Given the description of an element on the screen output the (x, y) to click on. 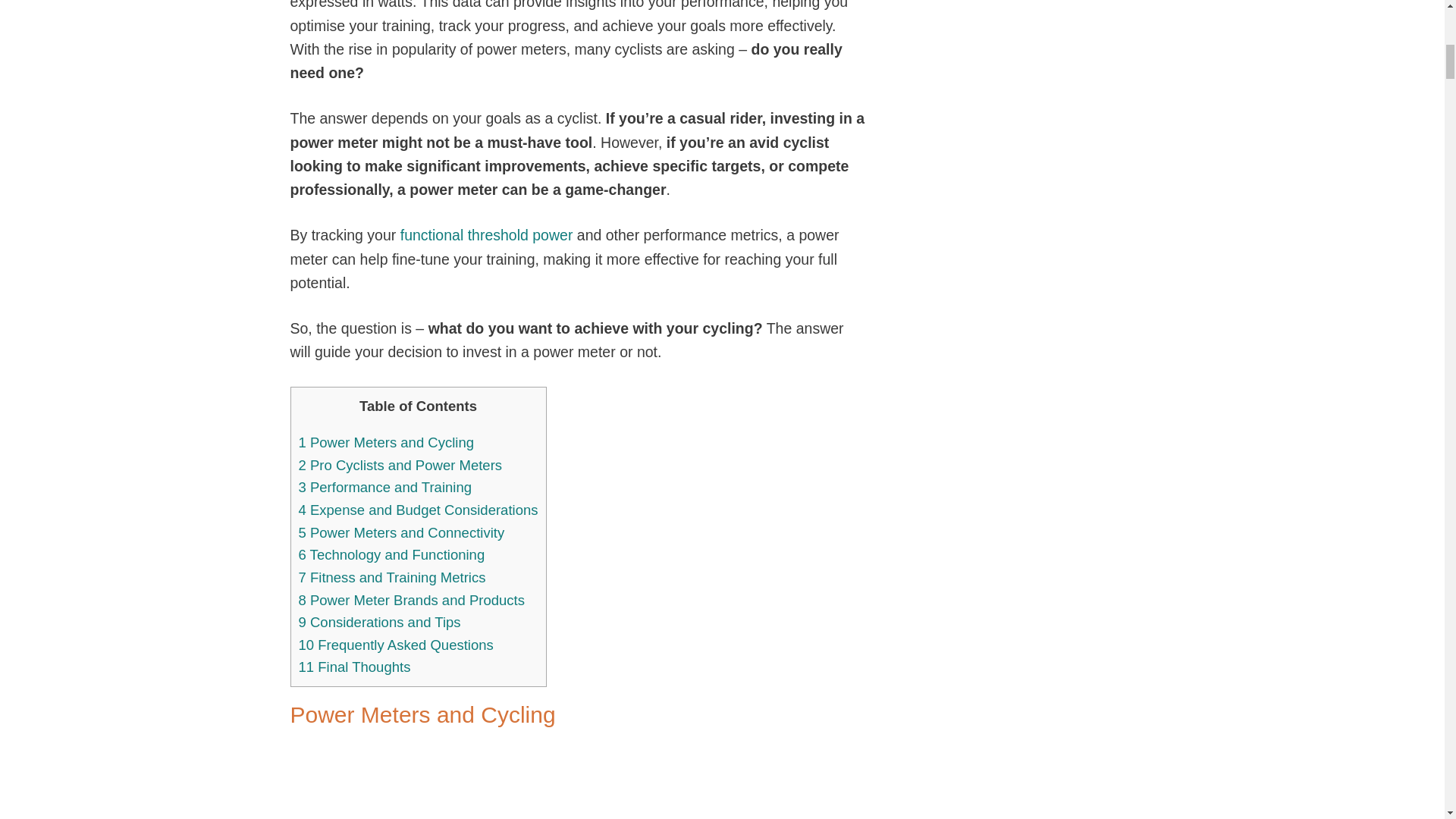
8 Power Meter Brands and Products (411, 600)
11 Final Thoughts (354, 666)
4 Expense and Budget Considerations (418, 509)
5 Power Meters and Connectivity (401, 532)
1 Power Meters and Cycling (386, 442)
2 Pro Cyclists and Power Meters (400, 465)
3 Performance and Training (384, 487)
7 Fitness and Training Metrics (392, 577)
functional threshold power (486, 234)
9 Considerations and Tips (379, 621)
6 Technology and Functioning (391, 554)
10 Frequently Asked Questions (395, 644)
